Given the description of an element on the screen output the (x, y) to click on. 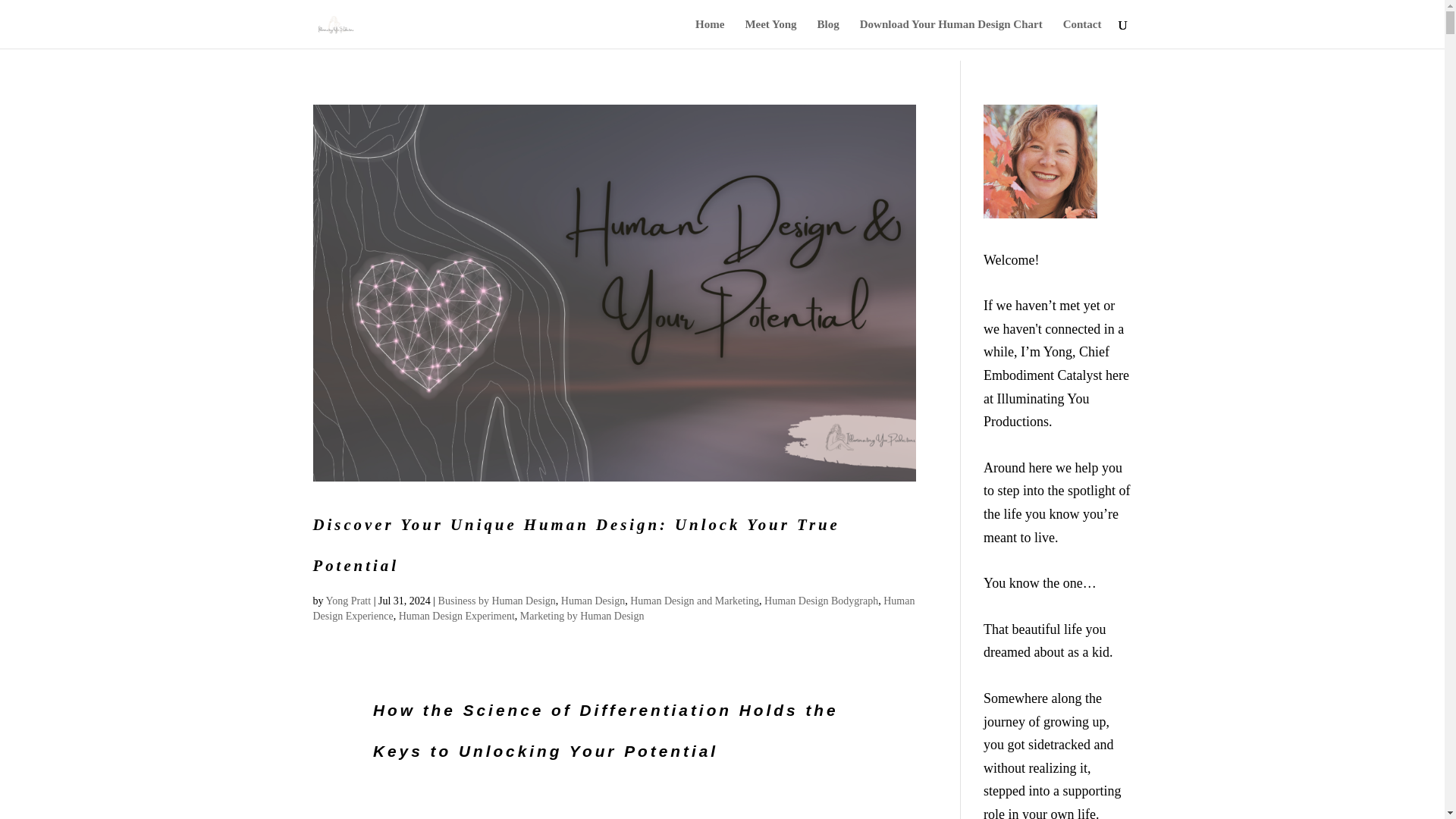
Human Design Experience (613, 608)
Home (709, 33)
Meet Yong (770, 33)
Business by Human Design (497, 600)
Yong Pratt (347, 600)
Marketing by Human Design (582, 615)
Human Design and Marketing (694, 600)
Human Design (592, 600)
Human Design Experiment (456, 615)
Posts by Yong Pratt (347, 600)
